Given the description of an element on the screen output the (x, y) to click on. 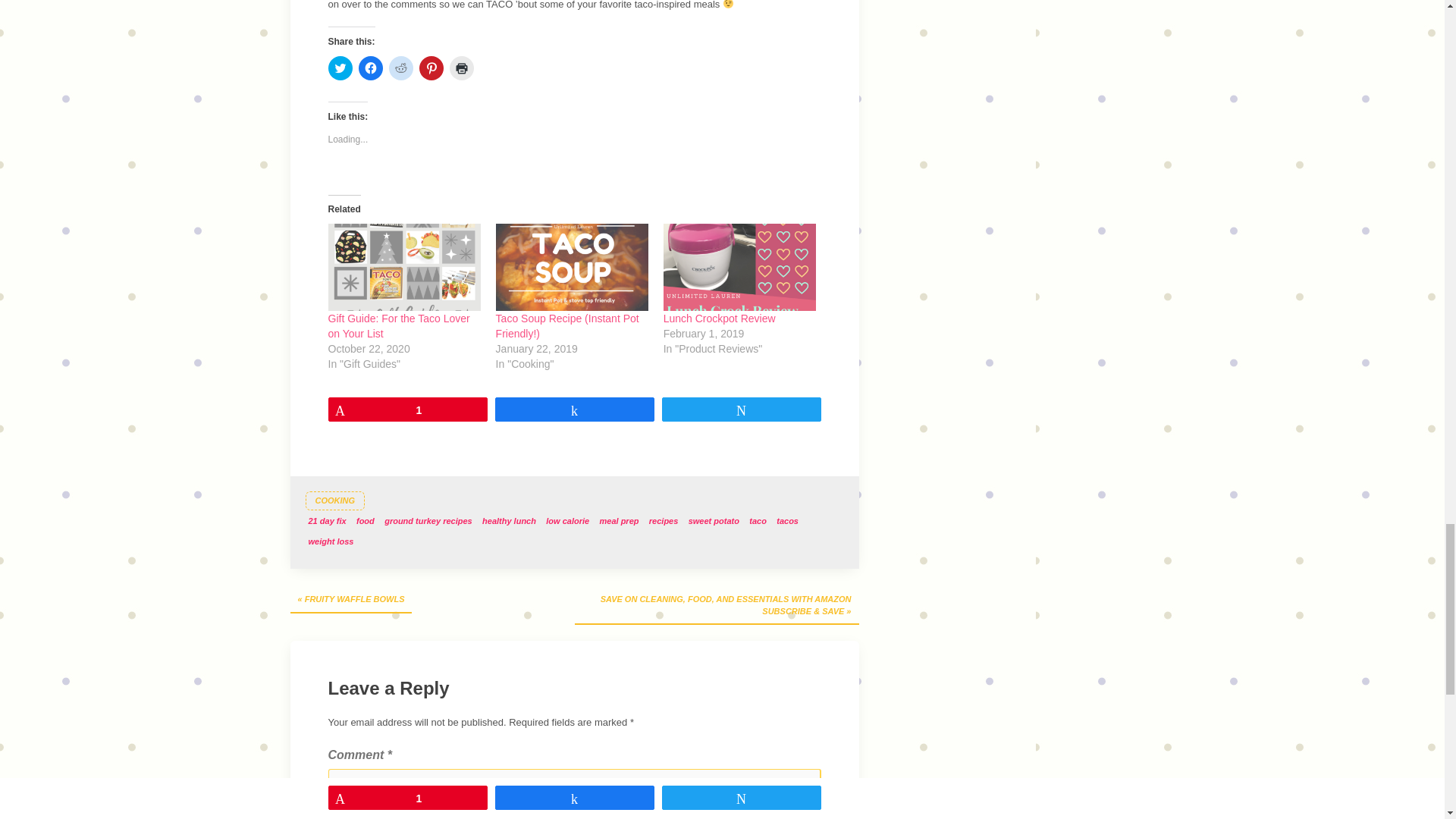
21 day fix (326, 521)
COOKING (334, 501)
Lunch Crockpot Review (719, 318)
low calorie (567, 521)
Click to share on Facebook (369, 68)
ground turkey recipes (428, 521)
food (365, 521)
Click to share on Reddit (400, 68)
1 (407, 409)
meal prep (618, 521)
